Given the description of an element on the screen output the (x, y) to click on. 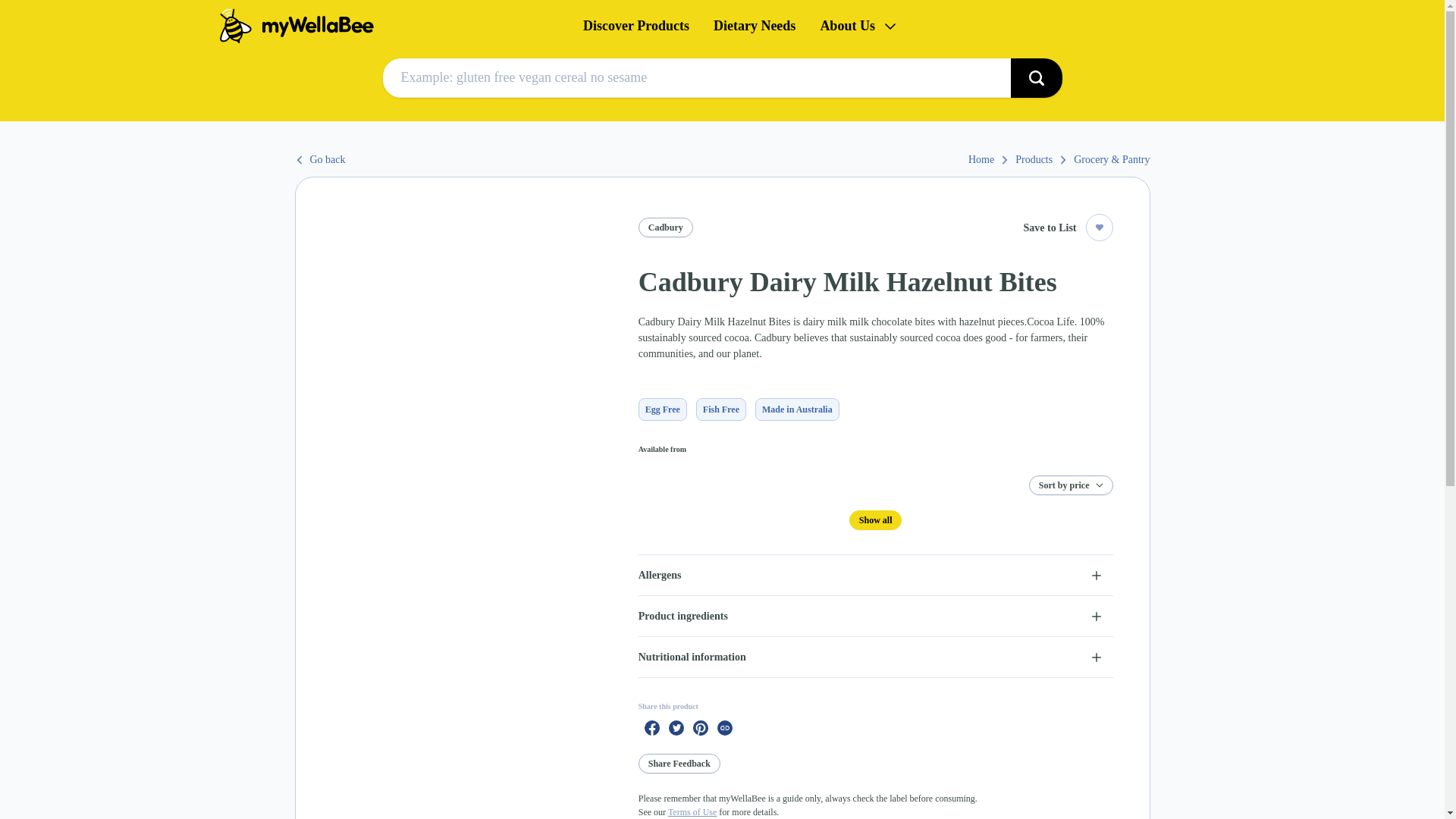
Fish Free (720, 409)
Share Feedback (679, 763)
About Us (858, 25)
Products (1040, 159)
Go back (319, 159)
Discover Products (635, 25)
Dietary Needs (754, 25)
Egg Free (663, 409)
Sort by price (1071, 485)
Home (988, 159)
Search (1035, 77)
Made in Australia (797, 409)
Show all (875, 519)
Home (392, 26)
Terms of Use (692, 811)
